Given the description of an element on the screen output the (x, y) to click on. 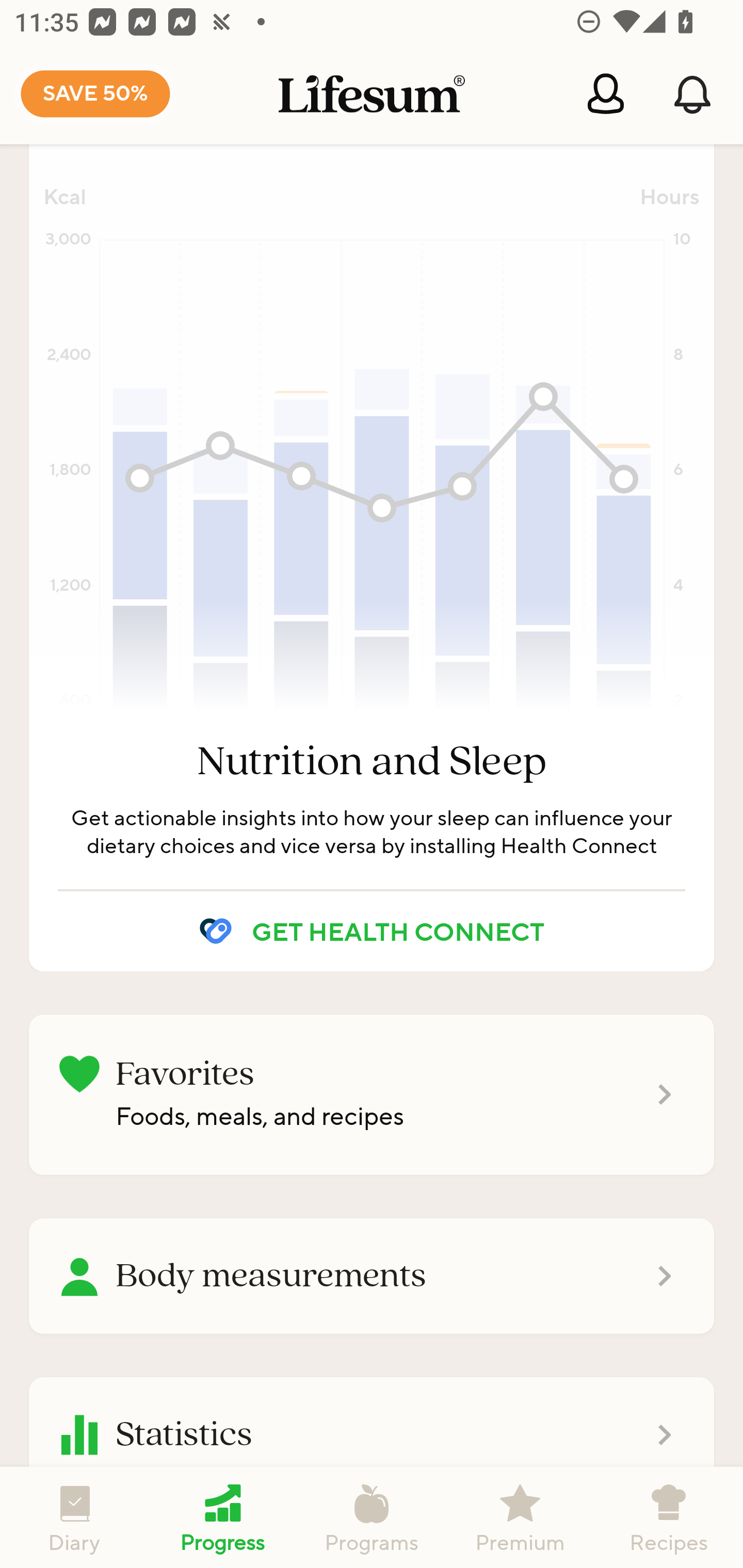
GET HEALTH CONNECT (371, 931)
Favorites Foods, meals, and recipes (371, 1094)
Body measurements (371, 1276)
Statistics (371, 1434)
Diary (74, 1517)
Programs (371, 1517)
Premium (519, 1517)
Recipes (668, 1517)
